Given the description of an element on the screen output the (x, y) to click on. 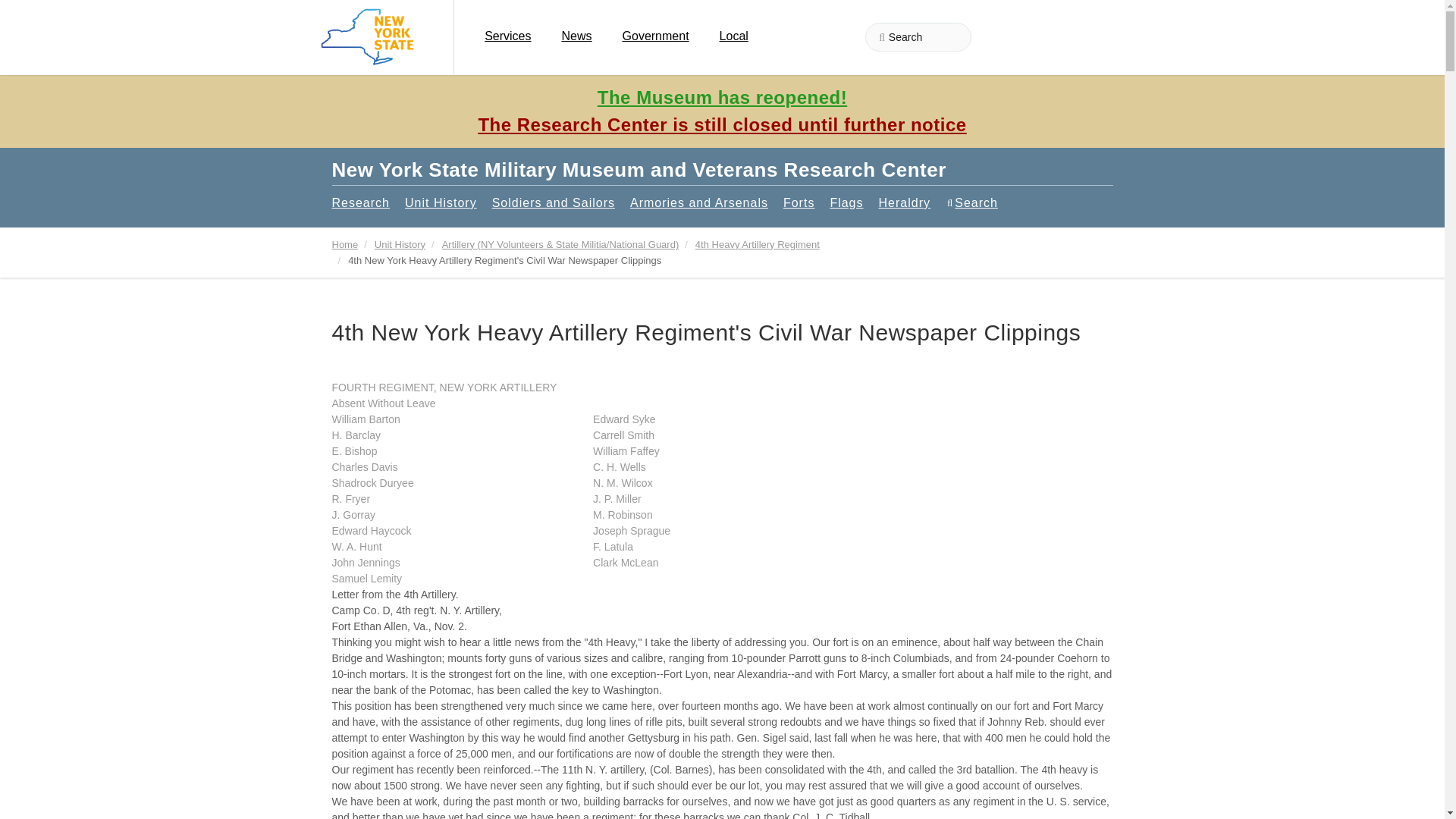
Services (507, 35)
Local (733, 35)
Government (655, 35)
News (577, 35)
Research (360, 202)
